Given the description of an element on the screen output the (x, y) to click on. 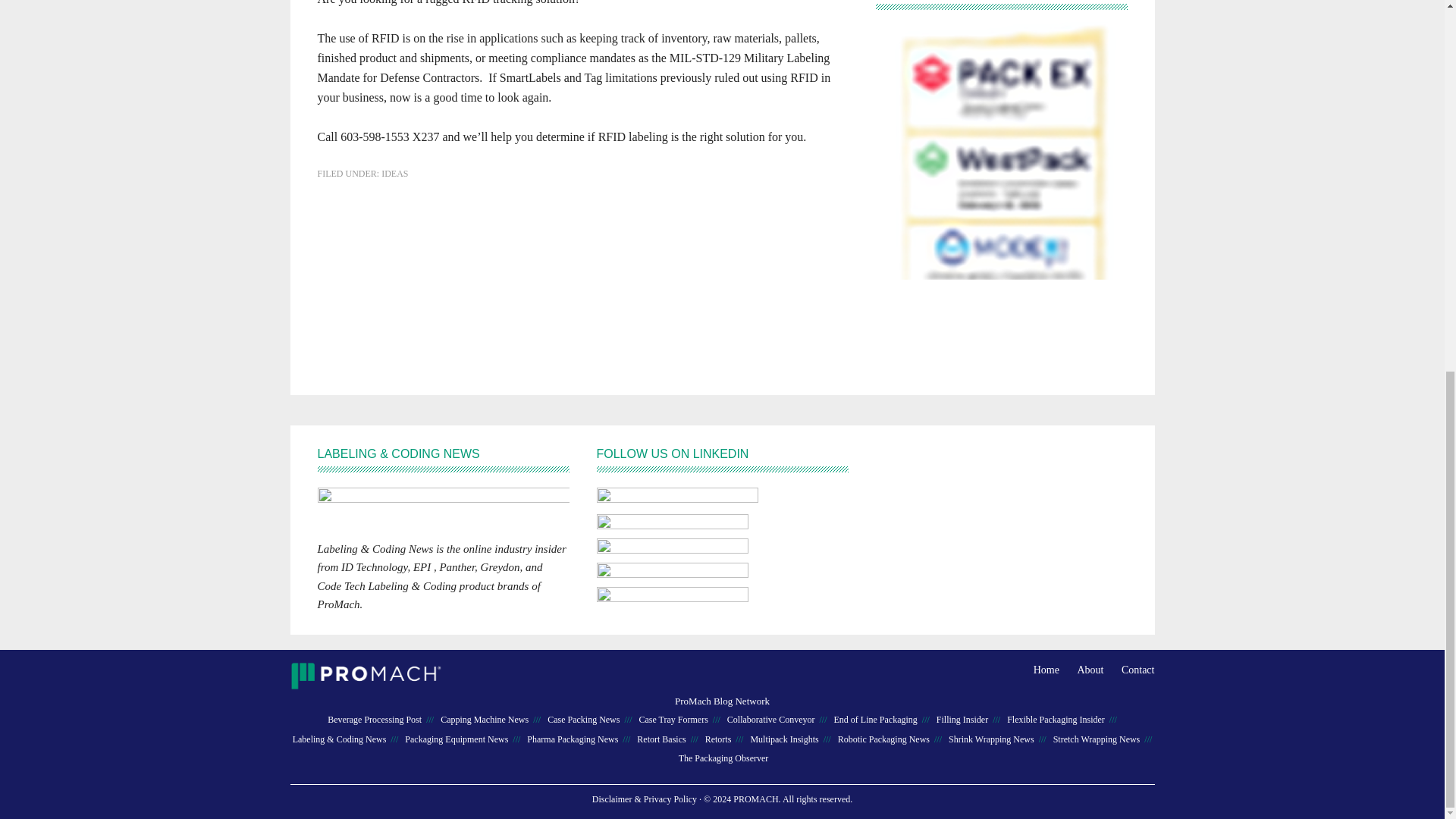
IDEAS (394, 172)
